Given the description of an element on the screen output the (x, y) to click on. 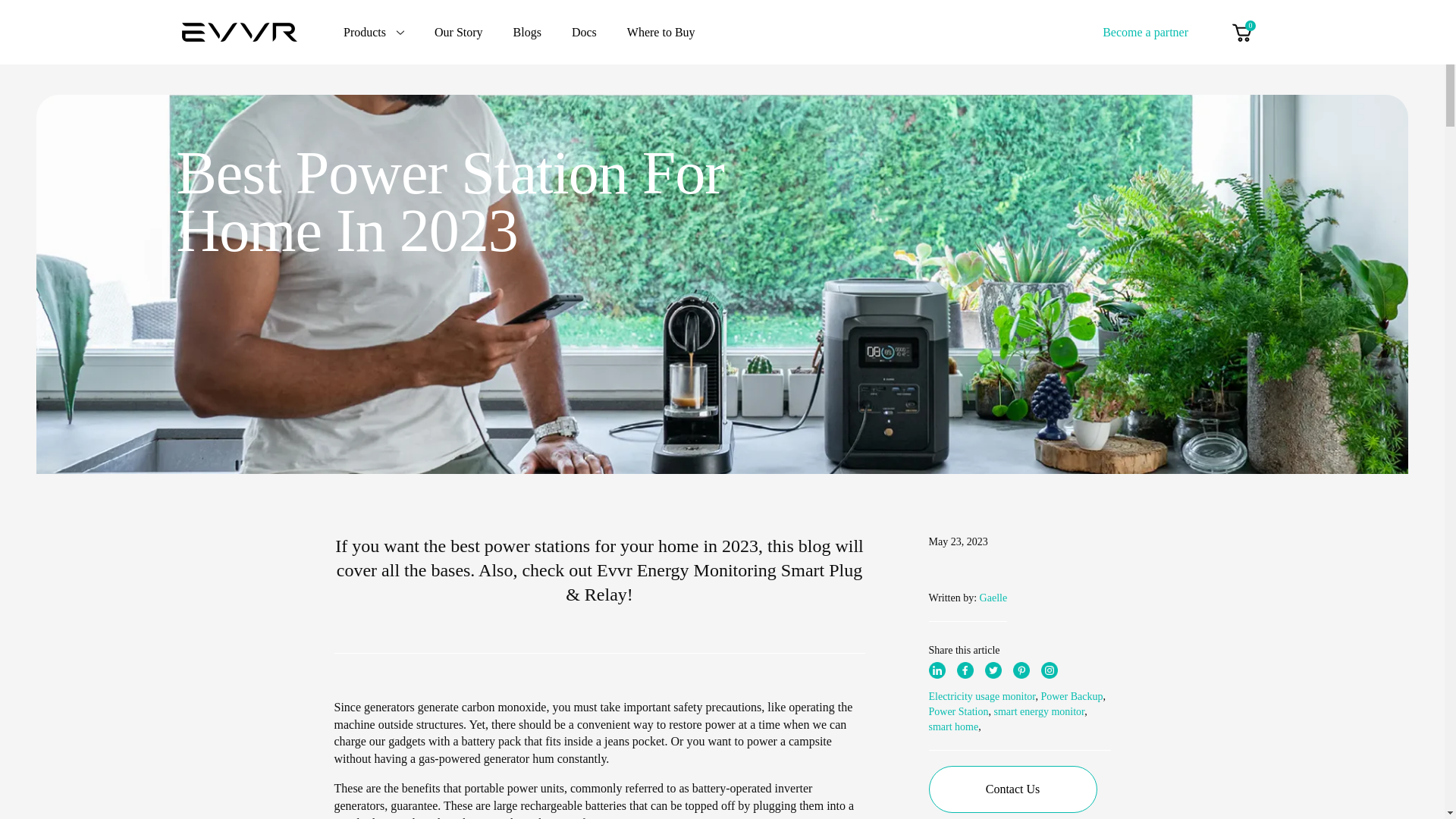
Docs (584, 31)
Become a partner (1144, 31)
Our Story (458, 31)
Where to Buy (661, 31)
0 (1240, 31)
Products (373, 31)
Blogs (527, 31)
